Given the description of an element on the screen output the (x, y) to click on. 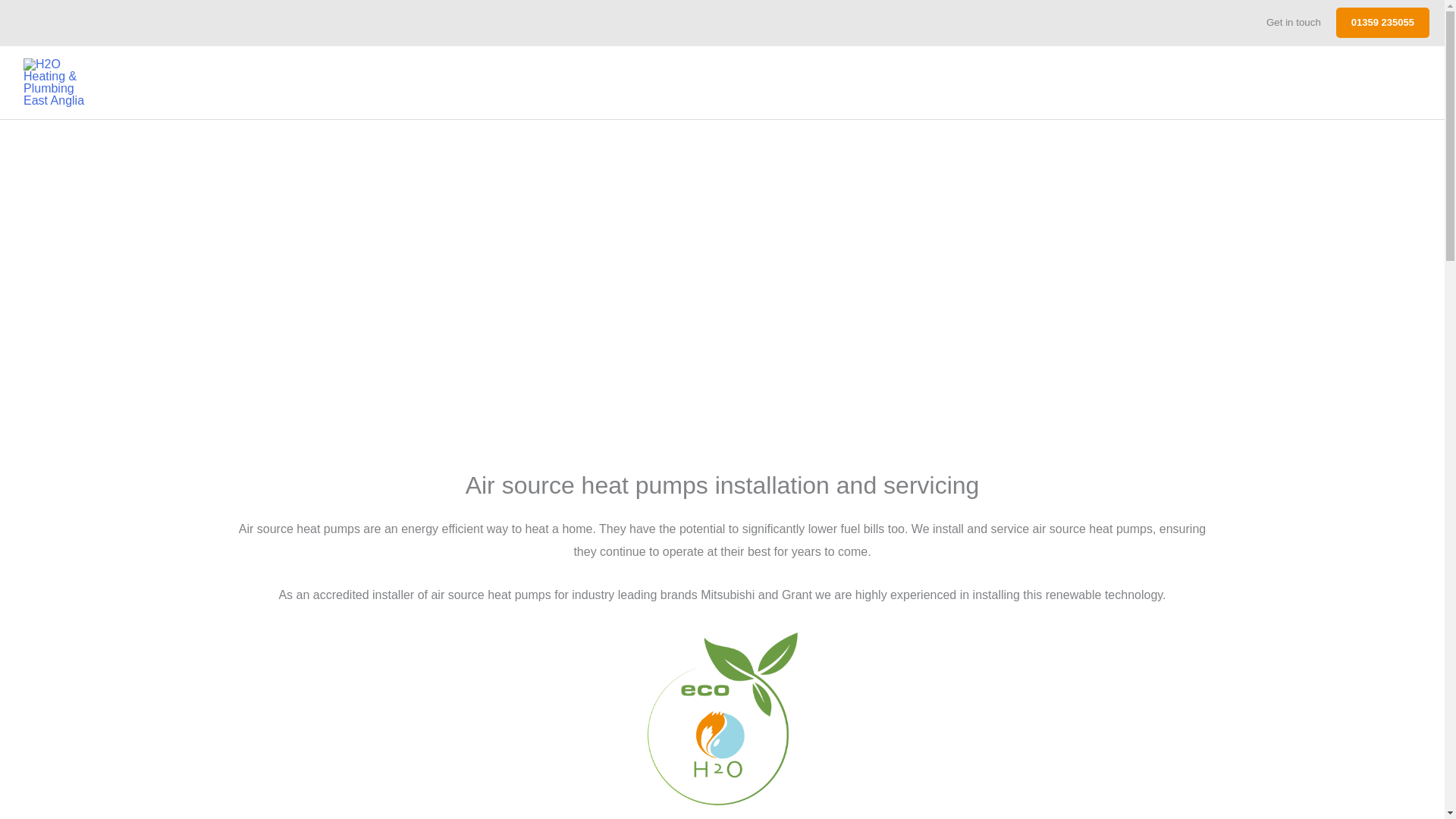
01359 235055 (1382, 22)
Home (1138, 82)
Company (1281, 82)
Contact (1400, 82)
News (1346, 82)
Services (1201, 82)
